Given the description of an element on the screen output the (x, y) to click on. 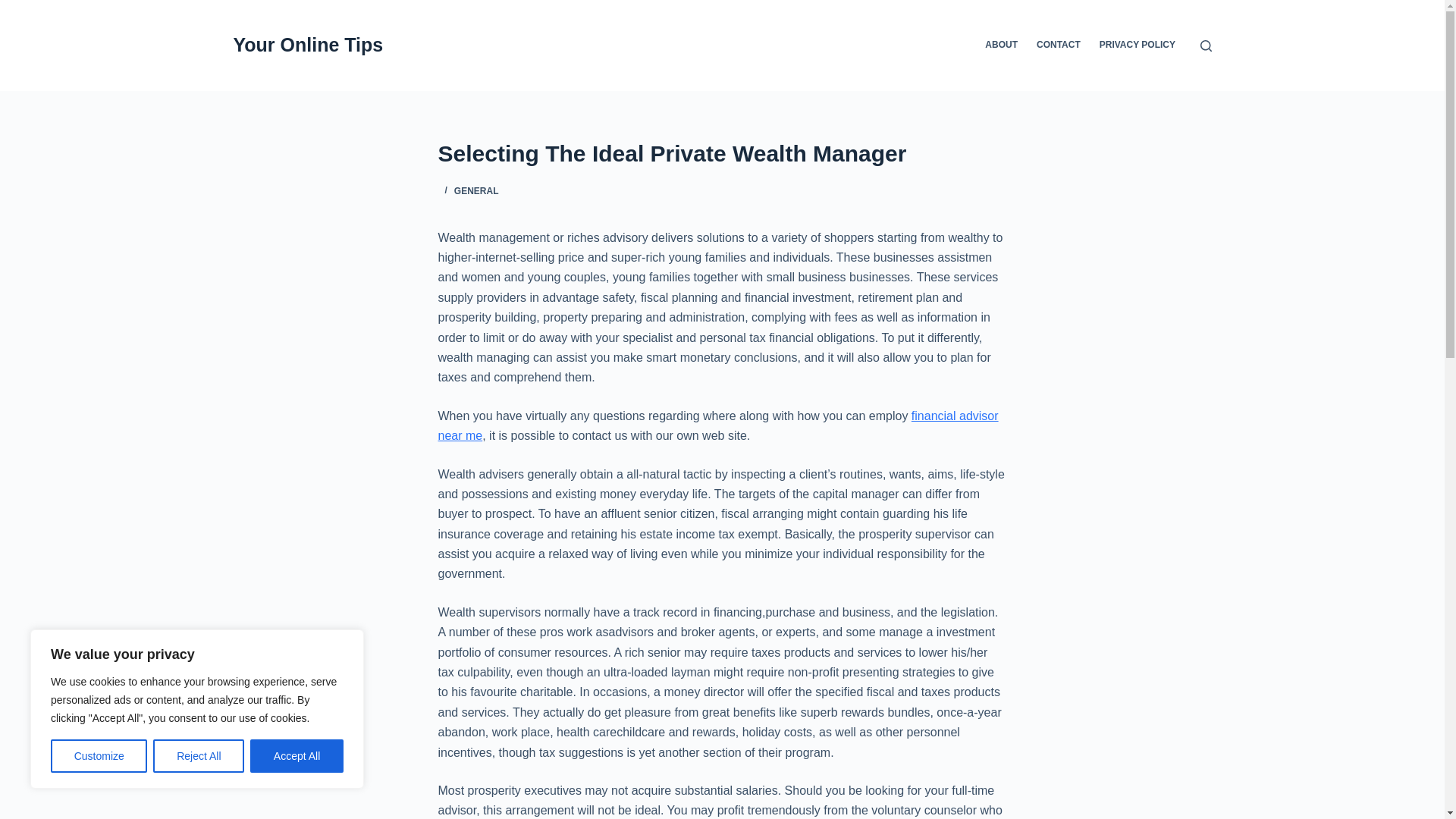
CONTACT (1057, 45)
Reject All (198, 756)
Accept All (296, 756)
financial advisor near me (718, 425)
GENERAL (476, 190)
ABOUT (1001, 45)
Your Online Tips (308, 44)
PRIVACY POLICY (1137, 45)
Skip to content (15, 7)
Customize (98, 756)
Selecting The Ideal Private Wealth Manager (722, 153)
